Given the description of an element on the screen output the (x, y) to click on. 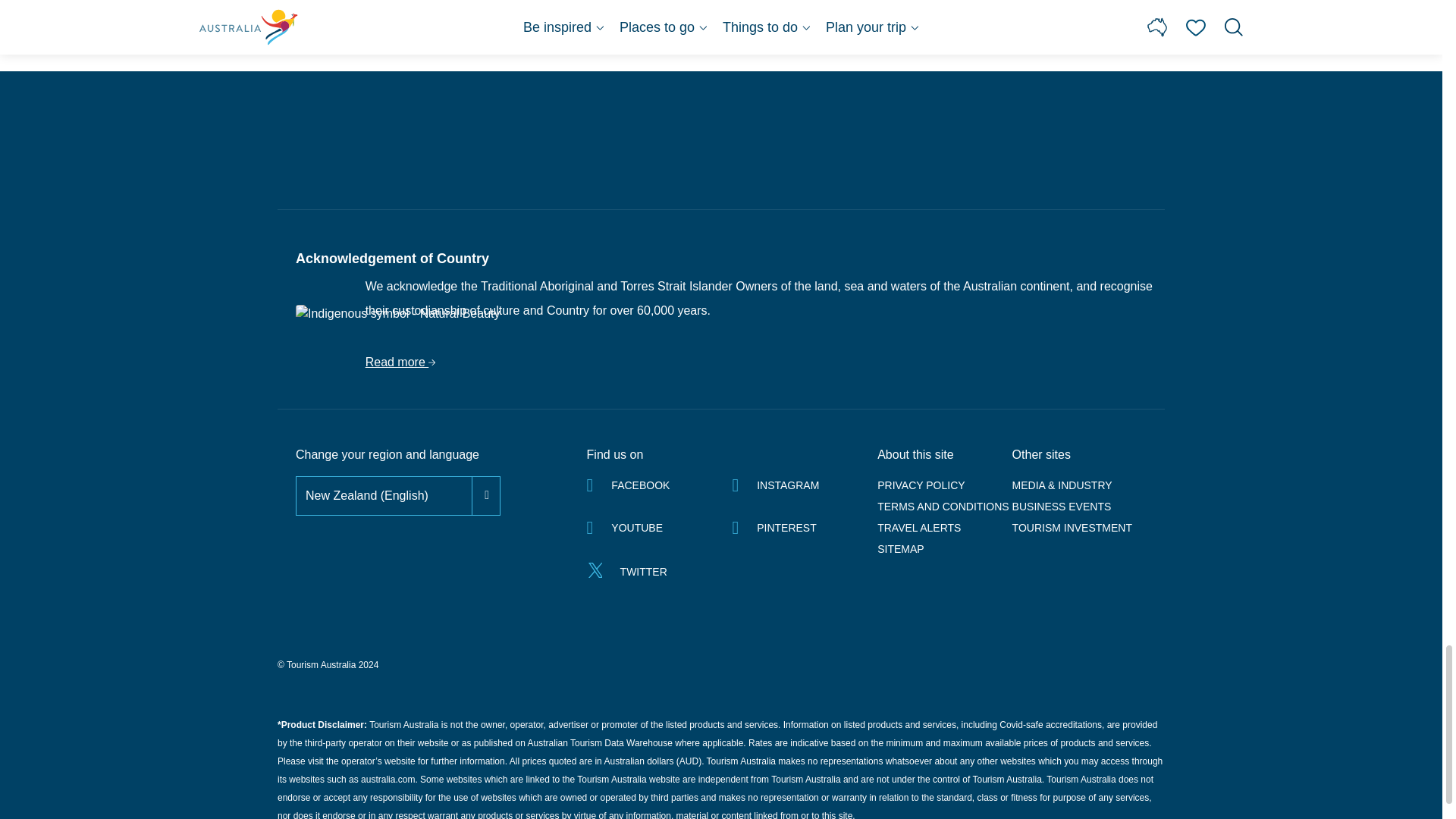
on (297, 478)
